Given the description of an element on the screen output the (x, y) to click on. 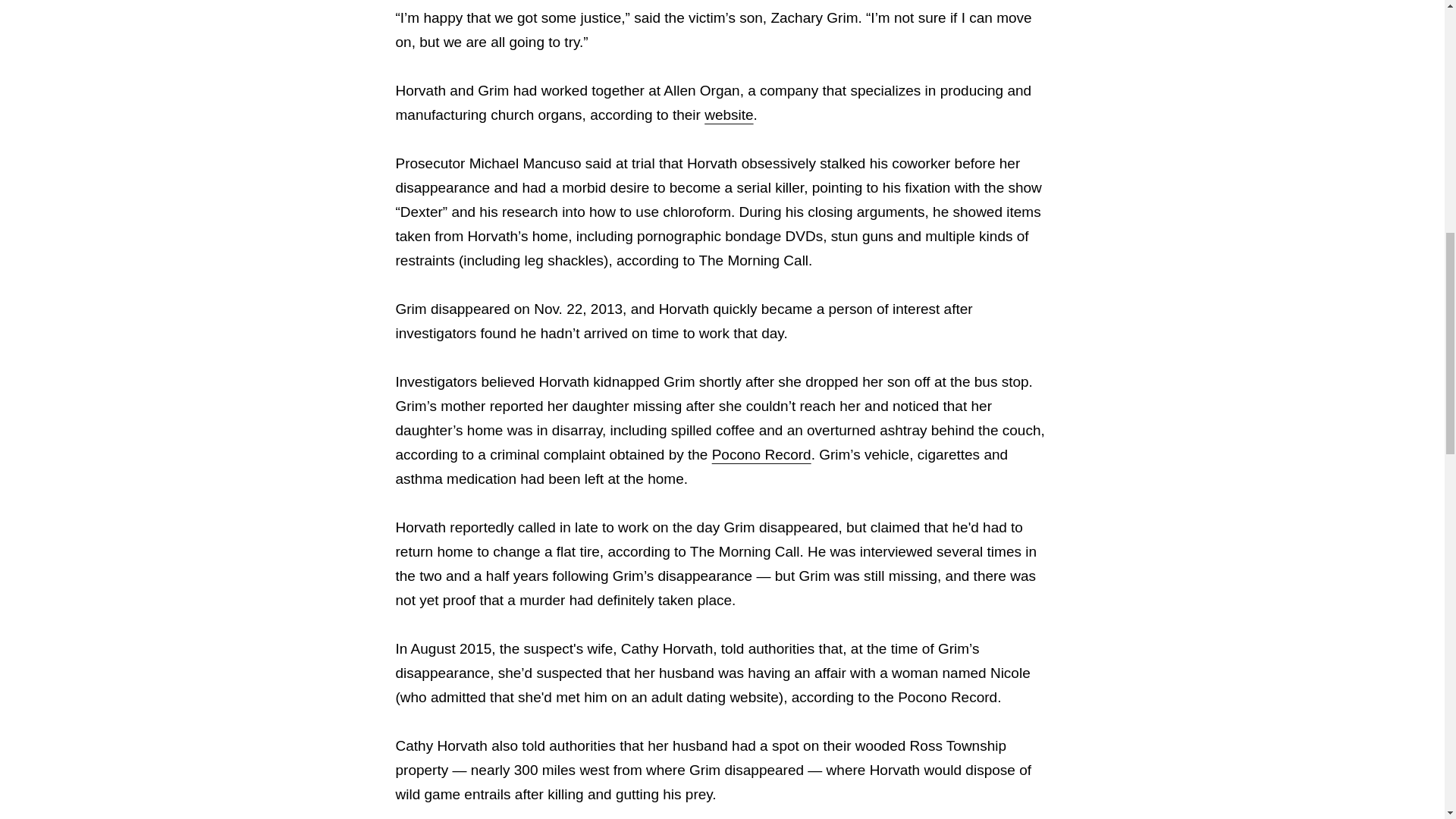
Pocono Record (760, 454)
website (728, 114)
